Given the description of an element on the screen output the (x, y) to click on. 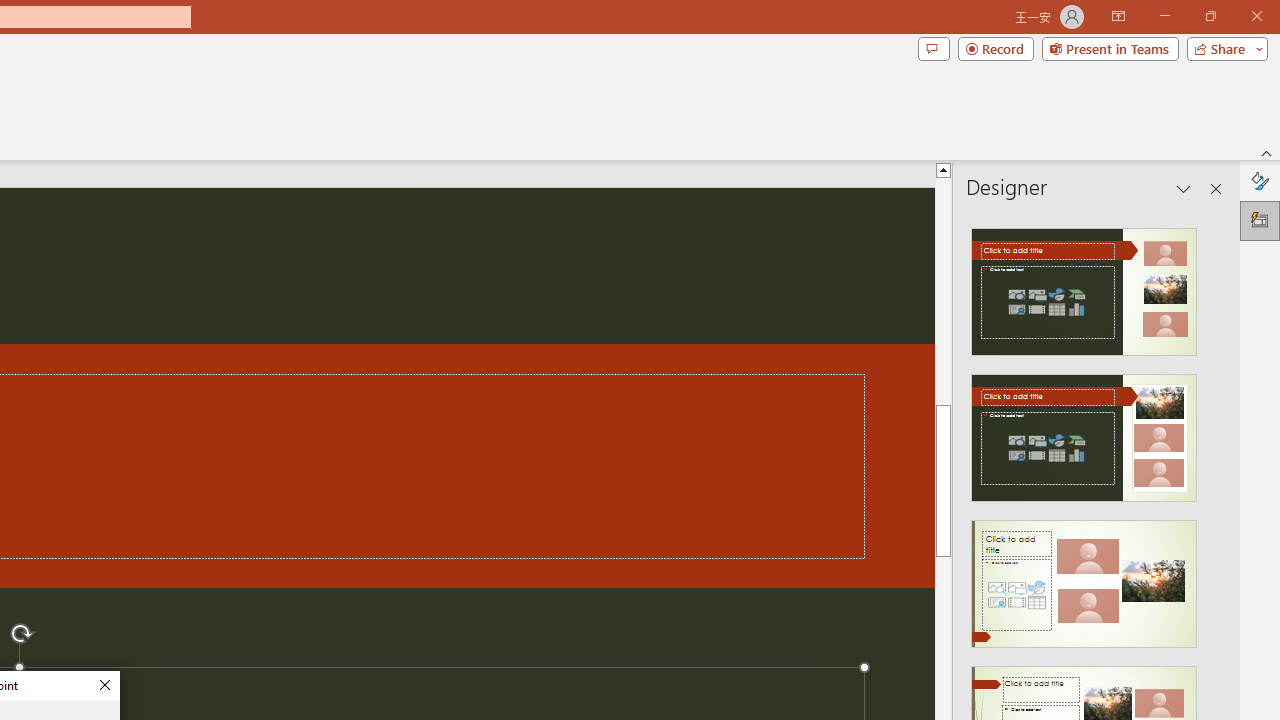
Format Background (1260, 180)
Design Idea (1083, 577)
